Given the description of an element on the screen output the (x, y) to click on. 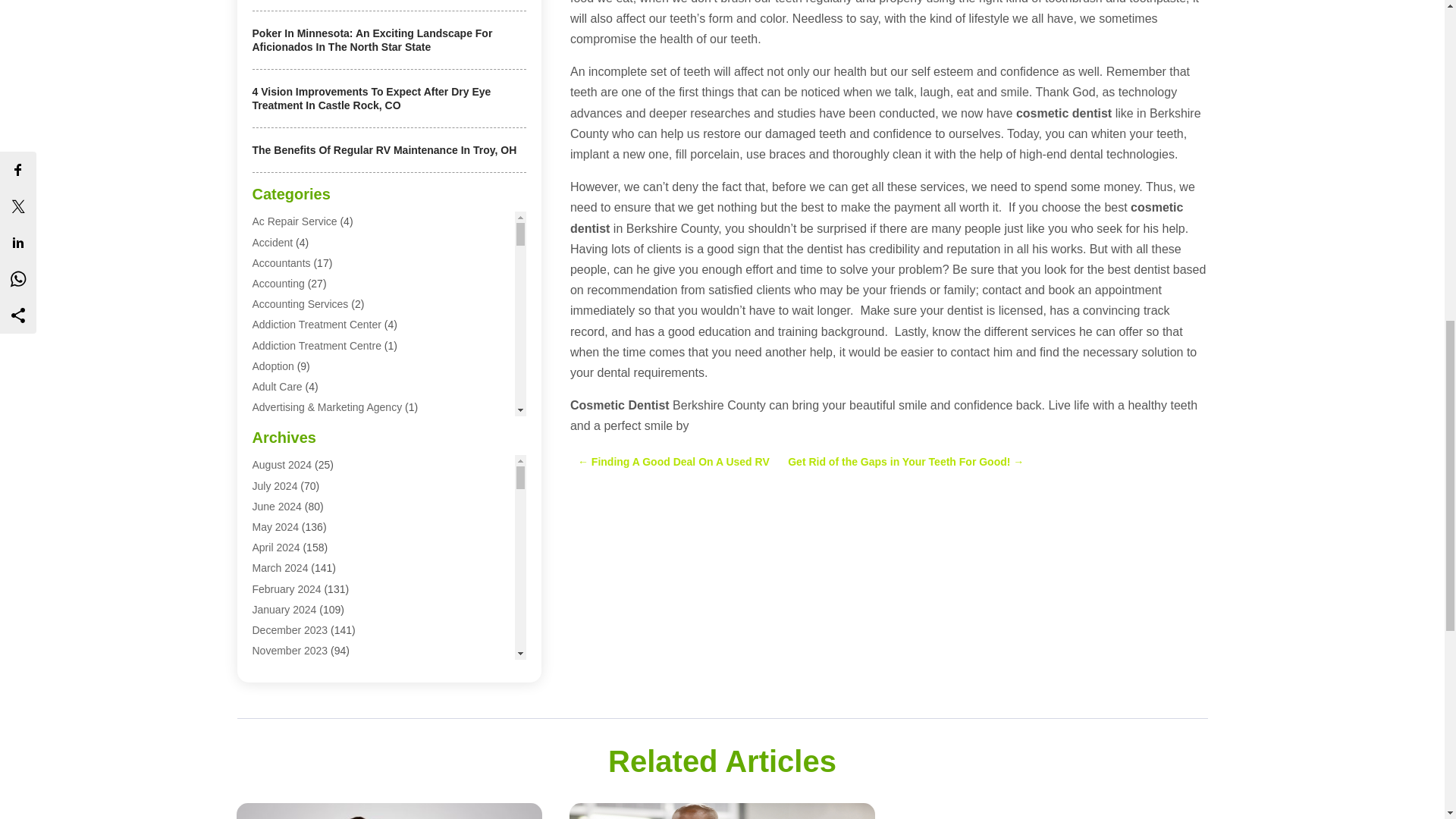
Agronomy (275, 510)
Agriculture Cooperative (306, 490)
Advertising Agency (296, 427)
Addiction Treatment Centre (315, 345)
Accounting Services (299, 304)
Air Compressor Supplier (309, 530)
Agriculture And Forestry (308, 469)
Accident (271, 242)
Agricultural Service (297, 448)
